Given the description of an element on the screen output the (x, y) to click on. 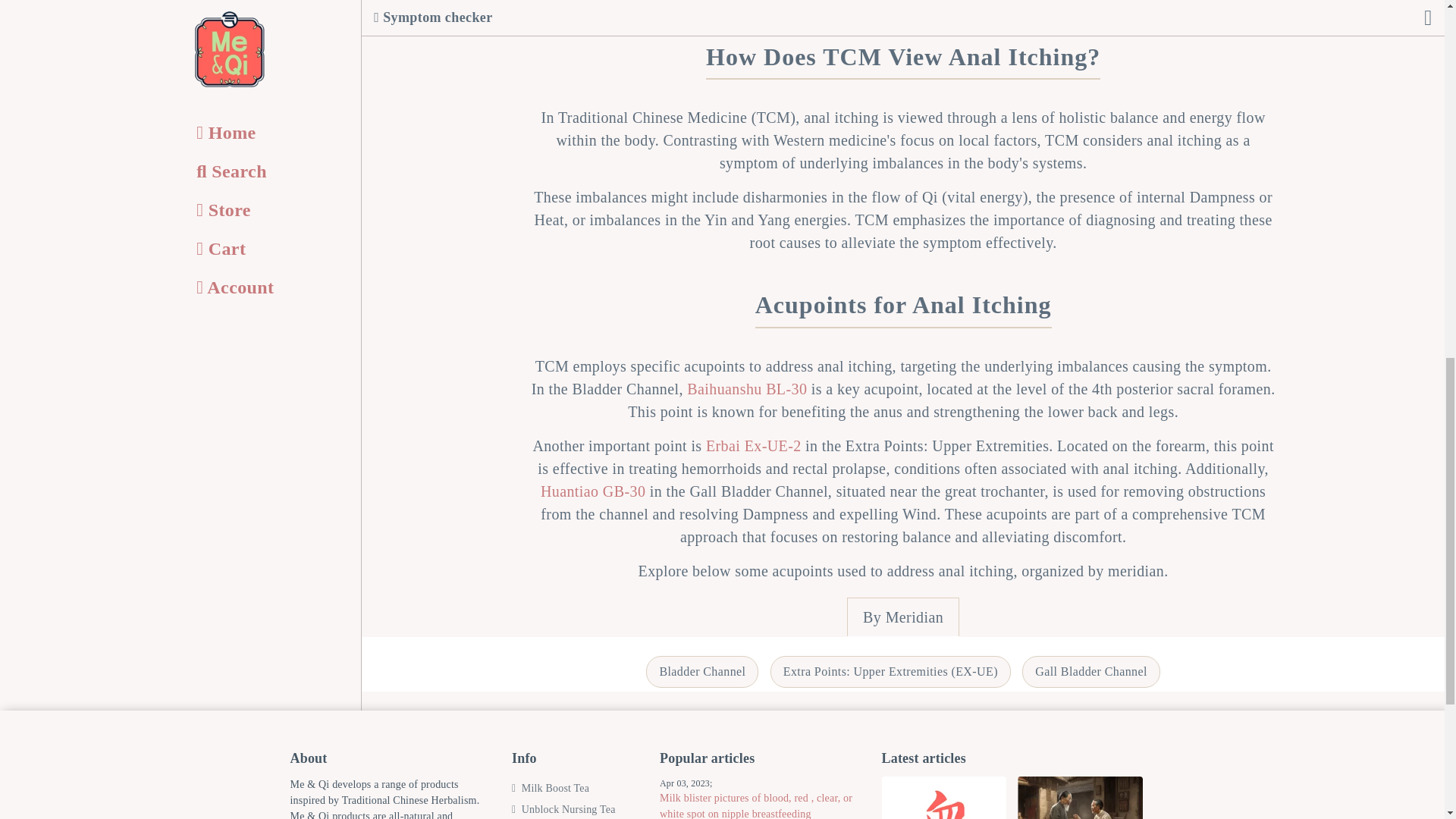
Blood, Body Fluids and their relationship in TCM (943, 797)
Baihuanshu BL-30 (746, 388)
  Unblock Nursing Tea (563, 811)
Huantiao GB-30 (592, 491)
Wang Shuhe's Pulse Classic (1079, 797)
Blood, Body Fluids and their... (943, 797)
Wang Shuhe's Pulse Classic (1079, 797)
  Milk Boost Tea (550, 793)
Erbai Ex-UE-2 (754, 445)
